Given the description of an element on the screen output the (x, y) to click on. 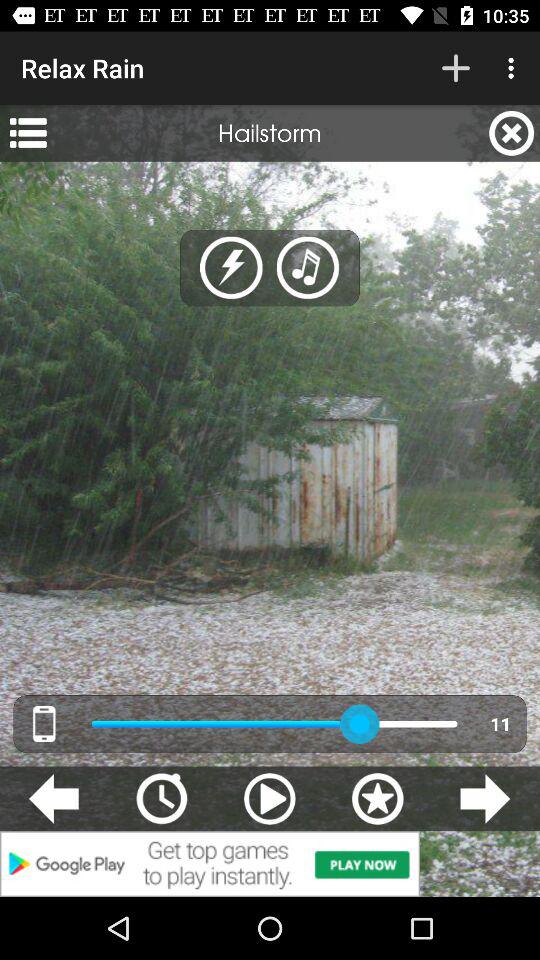
click the app below hailstorm app (308, 267)
